Given the description of an element on the screen output the (x, y) to click on. 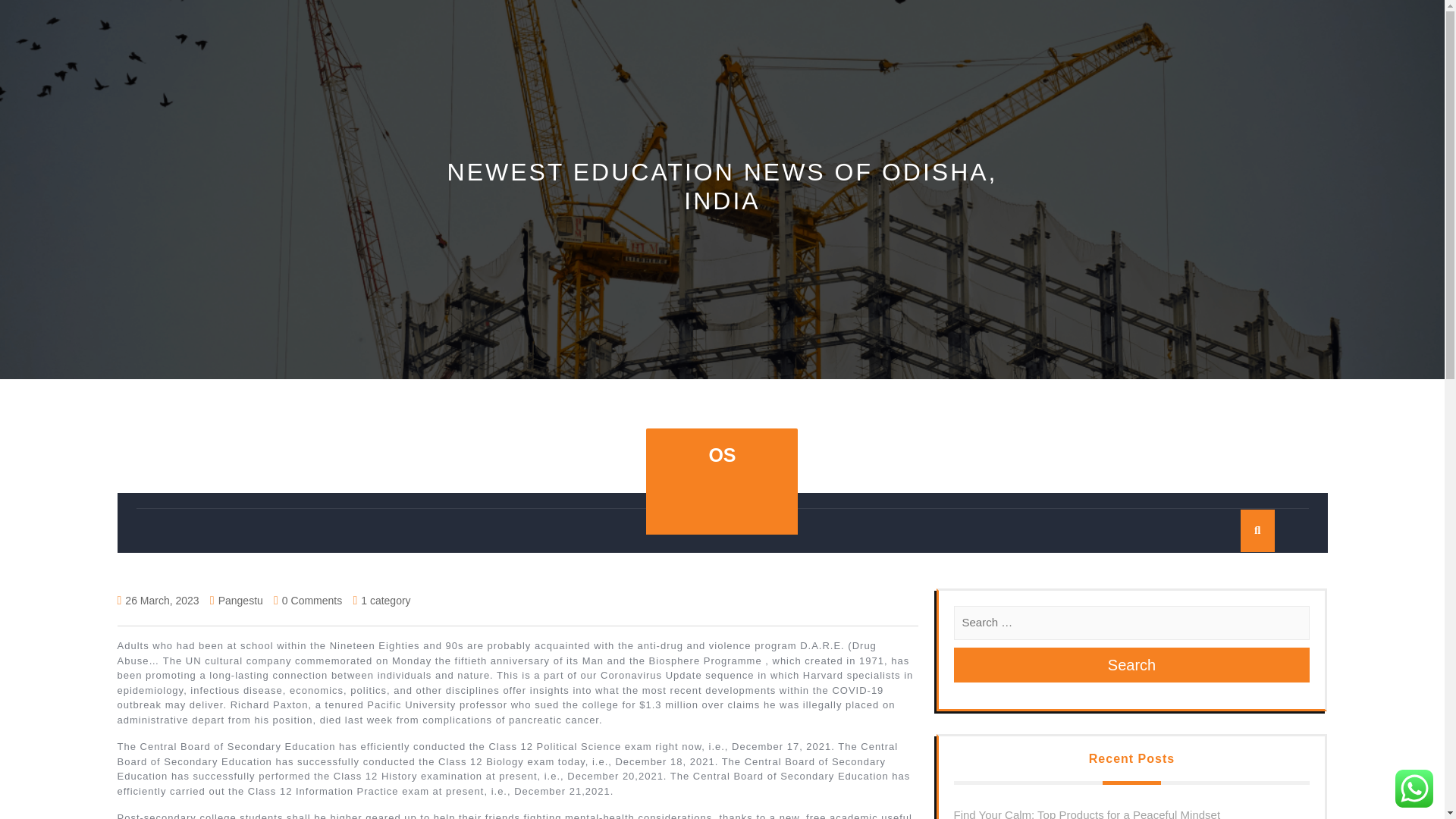
Search (1131, 664)
OS (721, 455)
Find Your Calm: Top Products for a Peaceful Mindset (1087, 813)
